Given the description of an element on the screen output the (x, y) to click on. 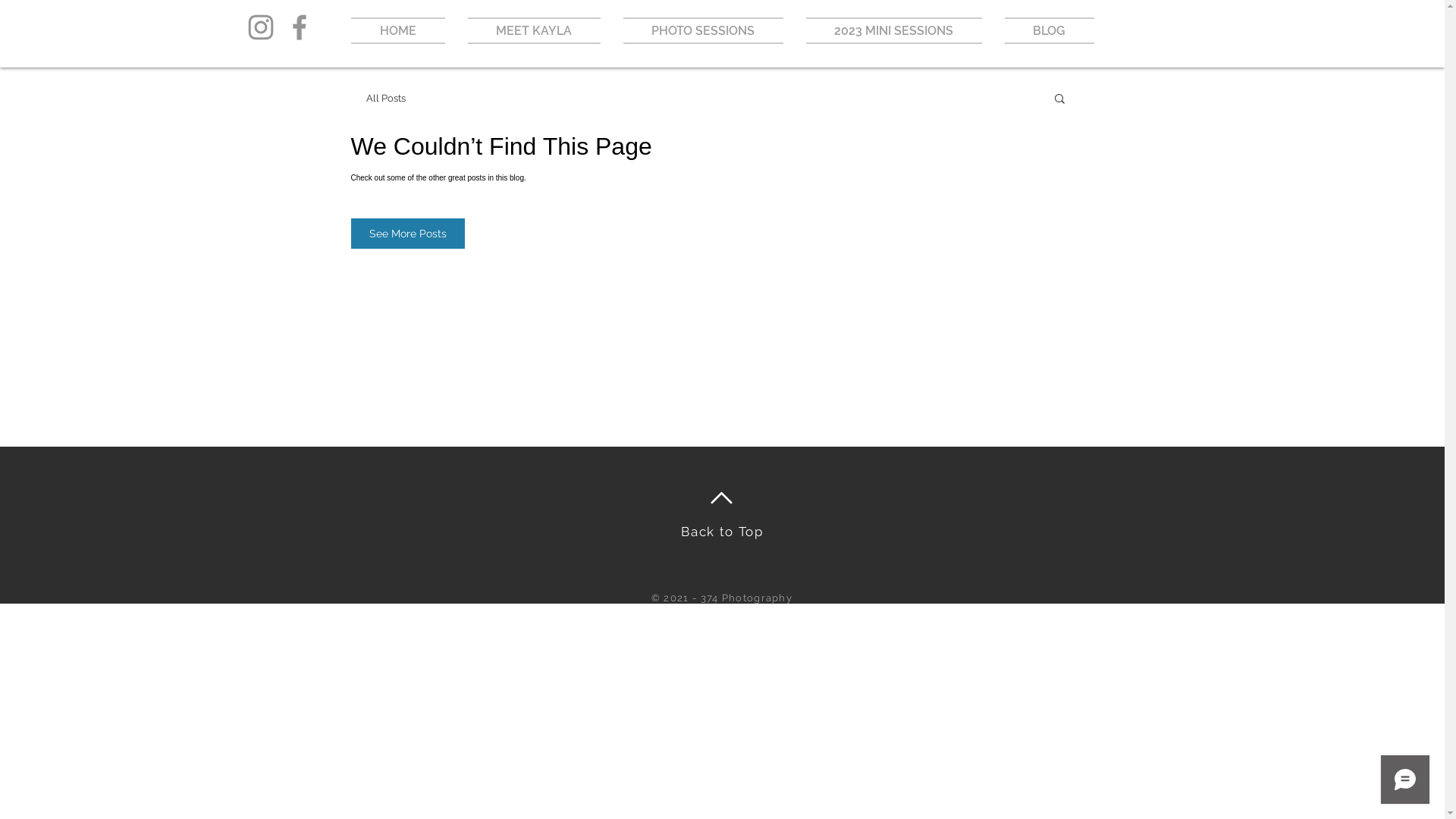
2023 MINI SESSIONS Element type: text (893, 30)
All Posts Element type: text (384, 97)
See More Posts Element type: text (407, 233)
PHOTO SESSIONS Element type: text (702, 30)
BLOG Element type: text (1043, 30)
Back to Top Element type: text (721, 531)
HOME Element type: text (402, 30)
MEET KAYLA Element type: text (533, 30)
